Given the description of an element on the screen output the (x, y) to click on. 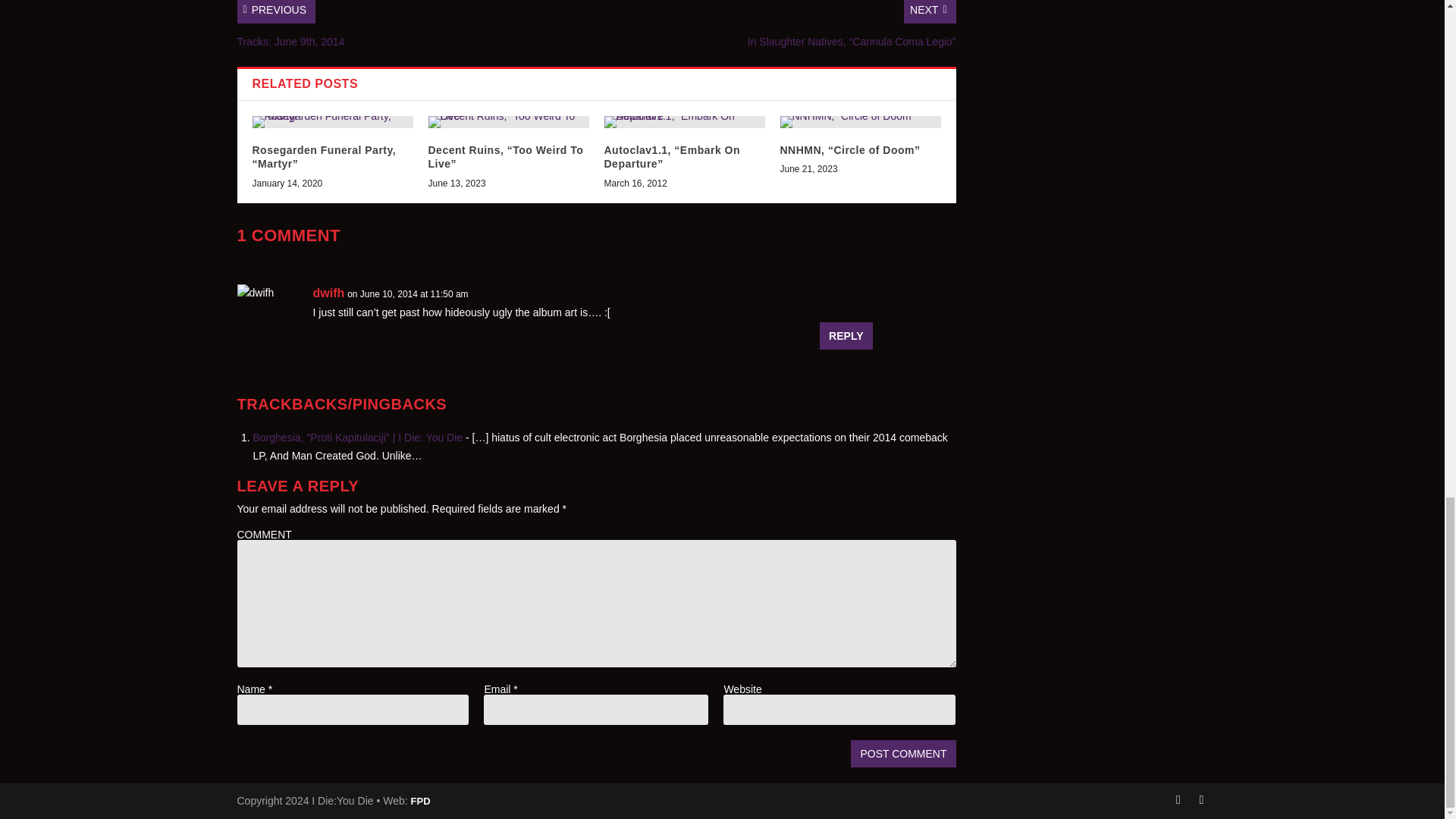
REPLY (845, 335)
Post Comment (902, 753)
